Given the description of an element on the screen output the (x, y) to click on. 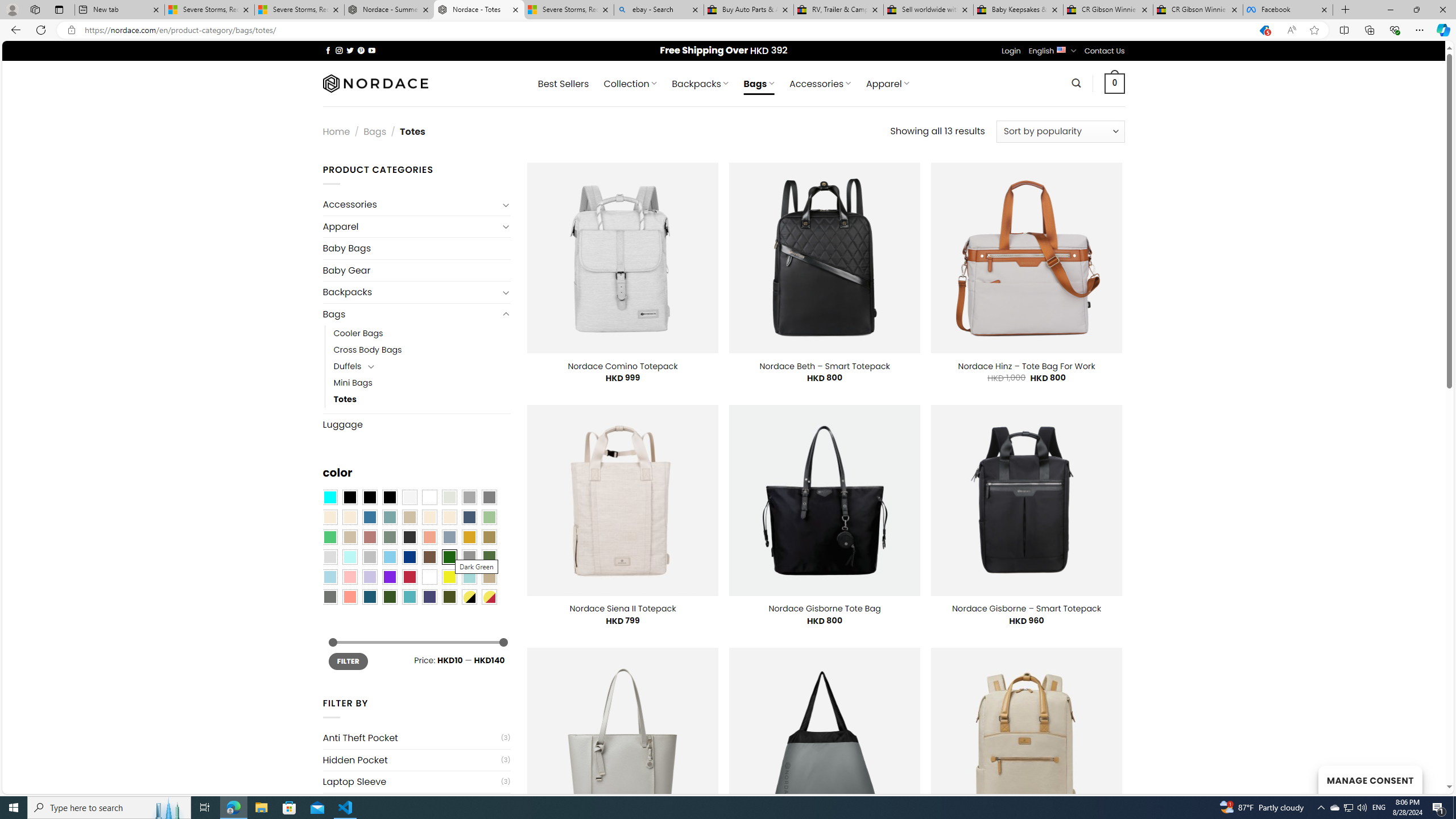
Mint (349, 557)
Dark Green (449, 557)
Cross Body Bags (367, 349)
Aqua Blue (329, 497)
Mini Bags (422, 382)
Shop order (1060, 131)
Aqua (468, 577)
Yellow-Black (468, 596)
Follow on Twitter (349, 49)
Army Green (449, 596)
Baby Gear (416, 269)
Light Purple (369, 577)
